Given the description of an element on the screen output the (x, y) to click on. 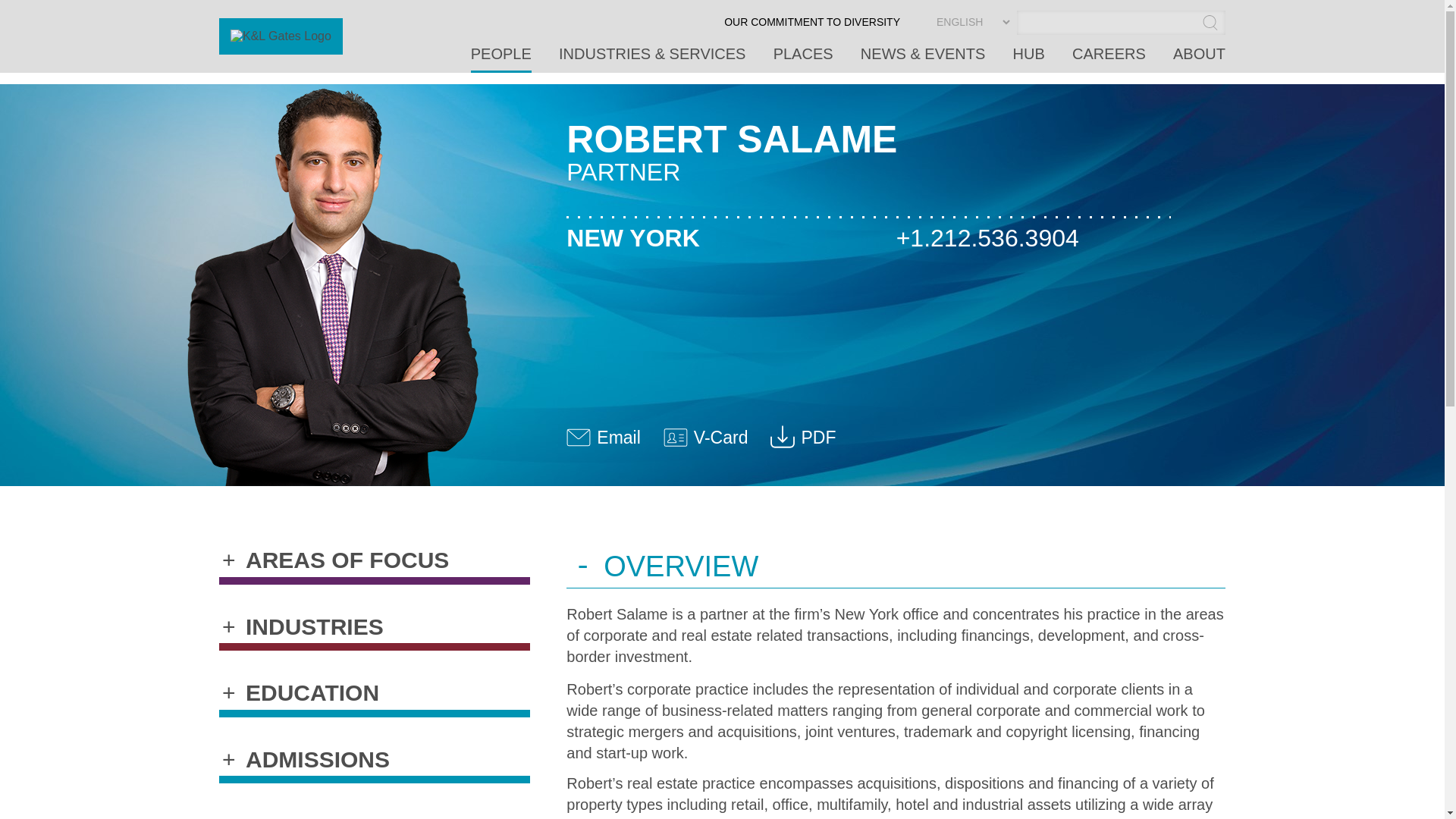
PEOPLE (500, 58)
ABOUT (1199, 58)
OUR COMMITMENT TO DIVERSITY (811, 27)
NEW YORK (744, 238)
PLACES (802, 58)
HUB (1029, 58)
CAREERS (717, 434)
